Given the description of an element on the screen output the (x, y) to click on. 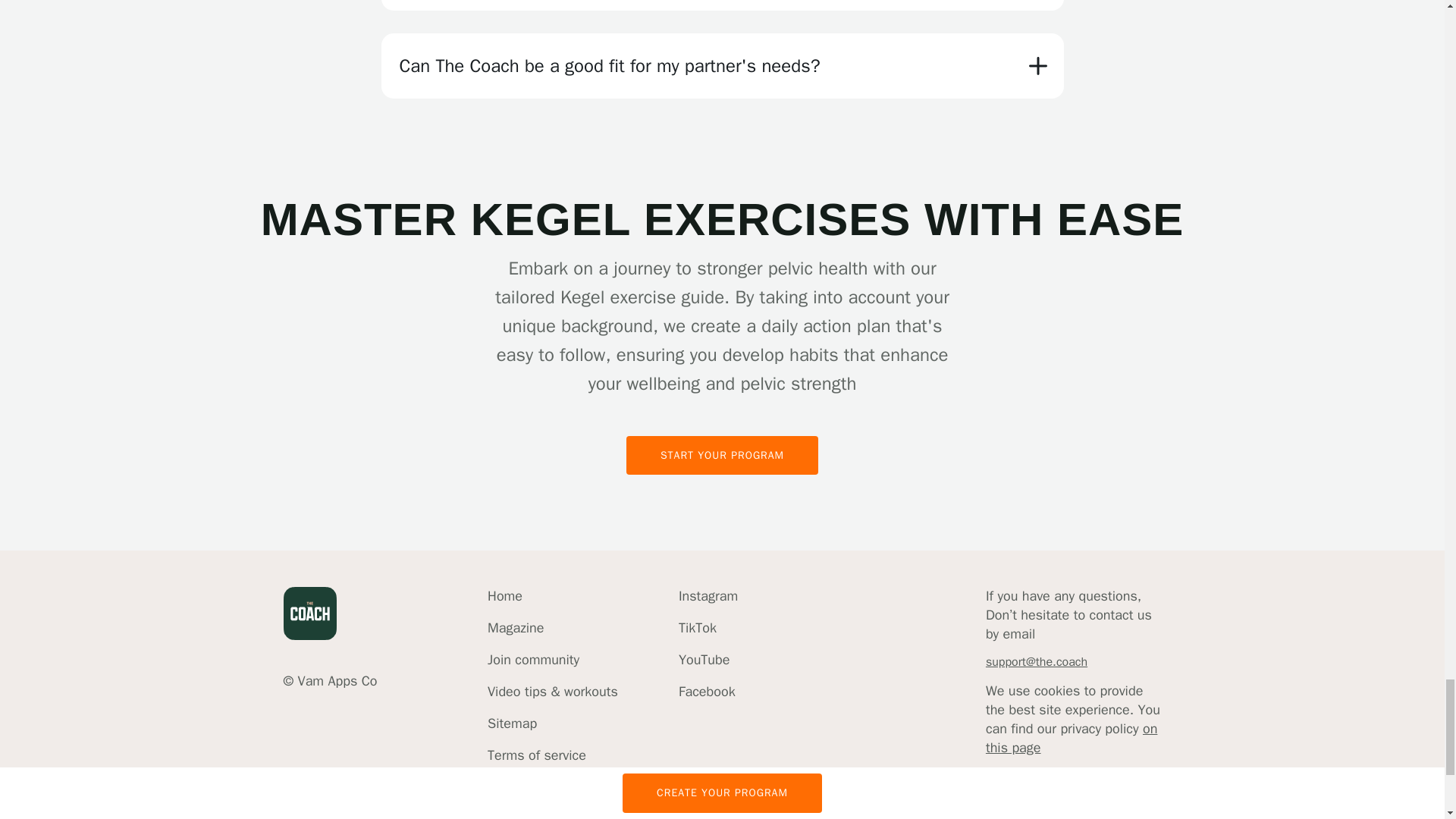
START YOUR PROGRAM (722, 482)
Magazine (552, 628)
Join community (552, 659)
Home (552, 596)
